Given the description of an element on the screen output the (x, y) to click on. 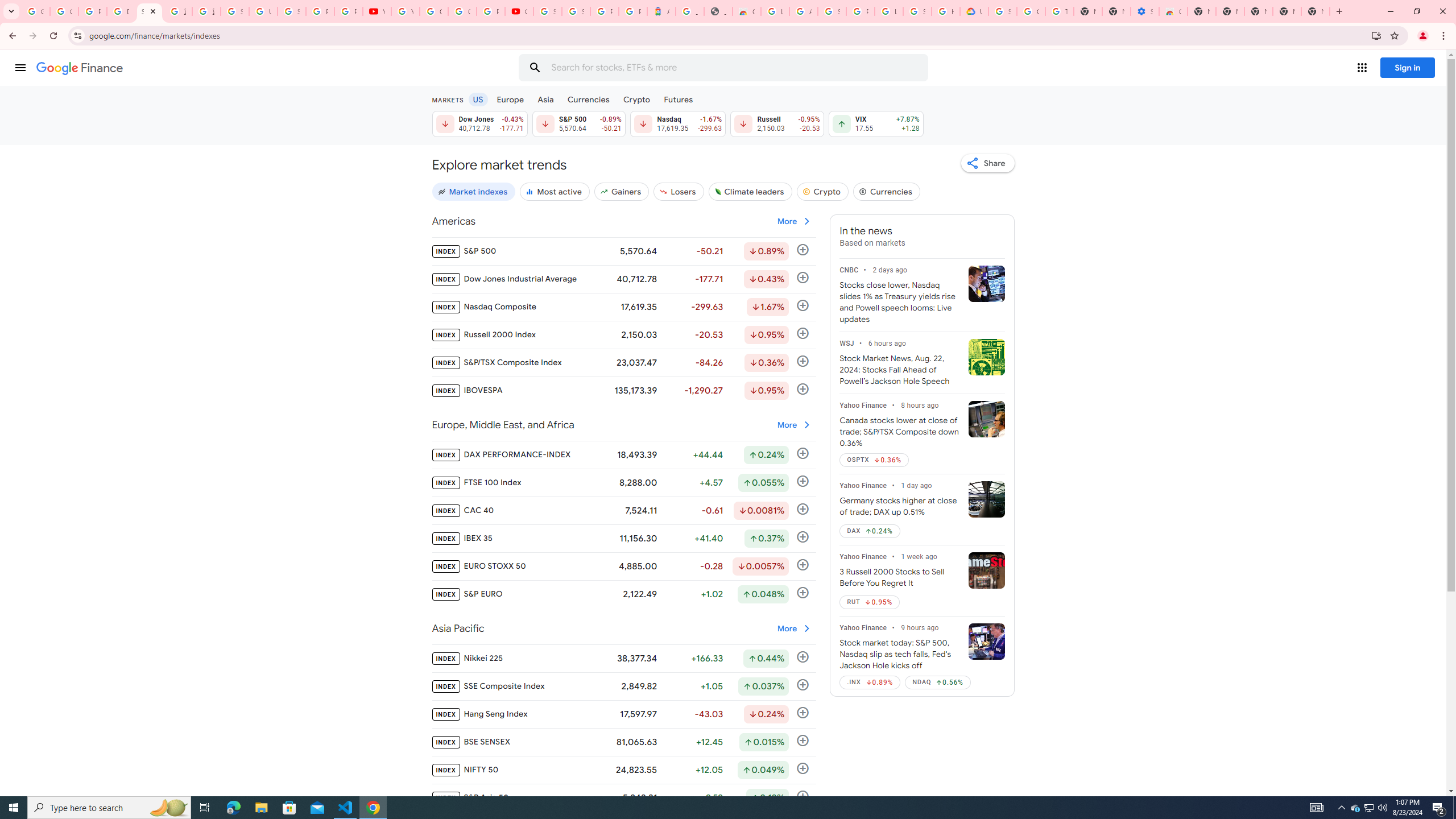
S&P 500 5,570.64 Down by 0.89% -50.21 (578, 123)
Asia (545, 99)
INDEX IBOVESPA 135,173.39 -1,290.27 Down by 0.95% Follow (623, 390)
VIX 17.55 Up by 7.87% +1.28 (875, 123)
Futures (678, 99)
US (477, 99)
RUT Down by 0.95% (869, 602)
Share (987, 162)
Install Google Finance (1376, 35)
INDEX EURO STOXX 50 4,885.00 -0.28 Down by 0.0057% Follow (623, 566)
INDEX IBEX 35 11,156.30 +41.40 Up by 0.37% Follow (623, 538)
INDEX Hang Seng Index 17,597.97 -43.03 Down by 0.23% Follow (623, 713)
